Given the description of an element on the screen output the (x, y) to click on. 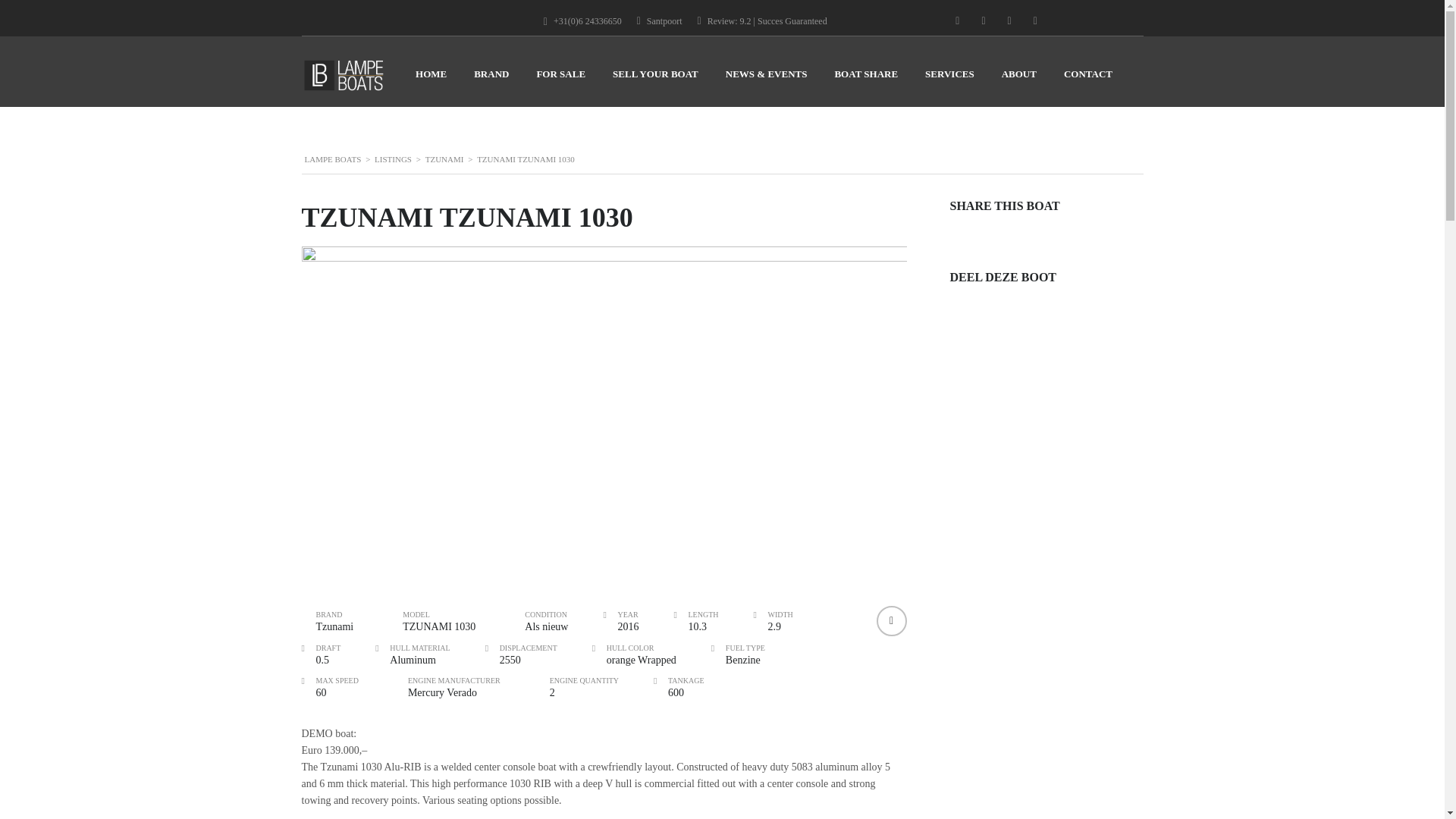
Go to Listings. (393, 158)
FOR SALE (560, 78)
LAMPE BOATS (332, 158)
BRAND (491, 78)
BOAT SHARE (866, 78)
Home (343, 75)
Go to the Tzunami Brand archives. (444, 158)
TZUNAMI (444, 158)
CONTACT (1088, 78)
HOME (430, 78)
